Given the description of an element on the screen output the (x, y) to click on. 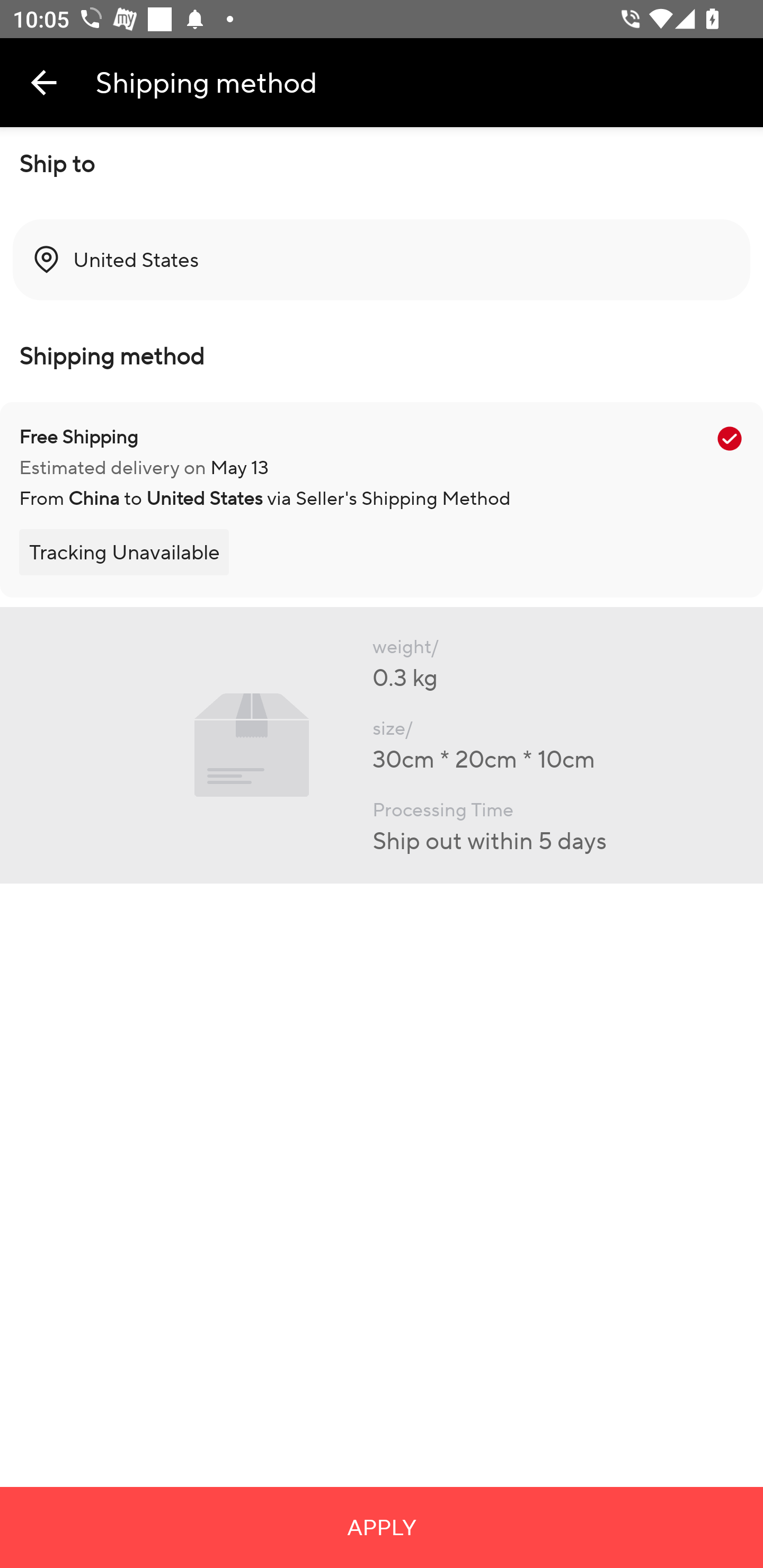
 United States (381, 260)
APPLY (381, 1527)
